Given the description of an element on the screen output the (x, y) to click on. 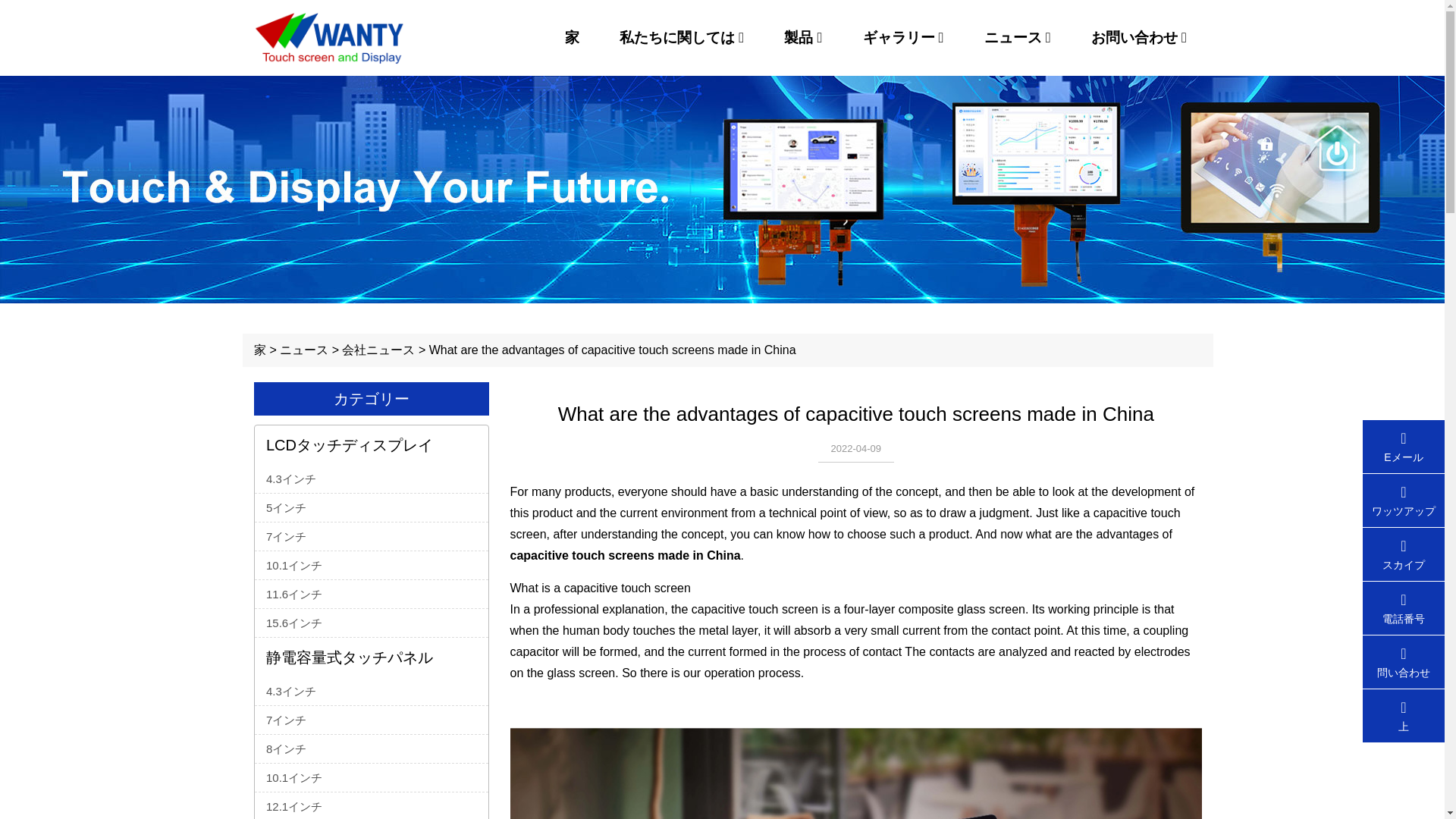
capacitive touch screens made in China (624, 554)
